Given the description of an element on the screen output the (x, y) to click on. 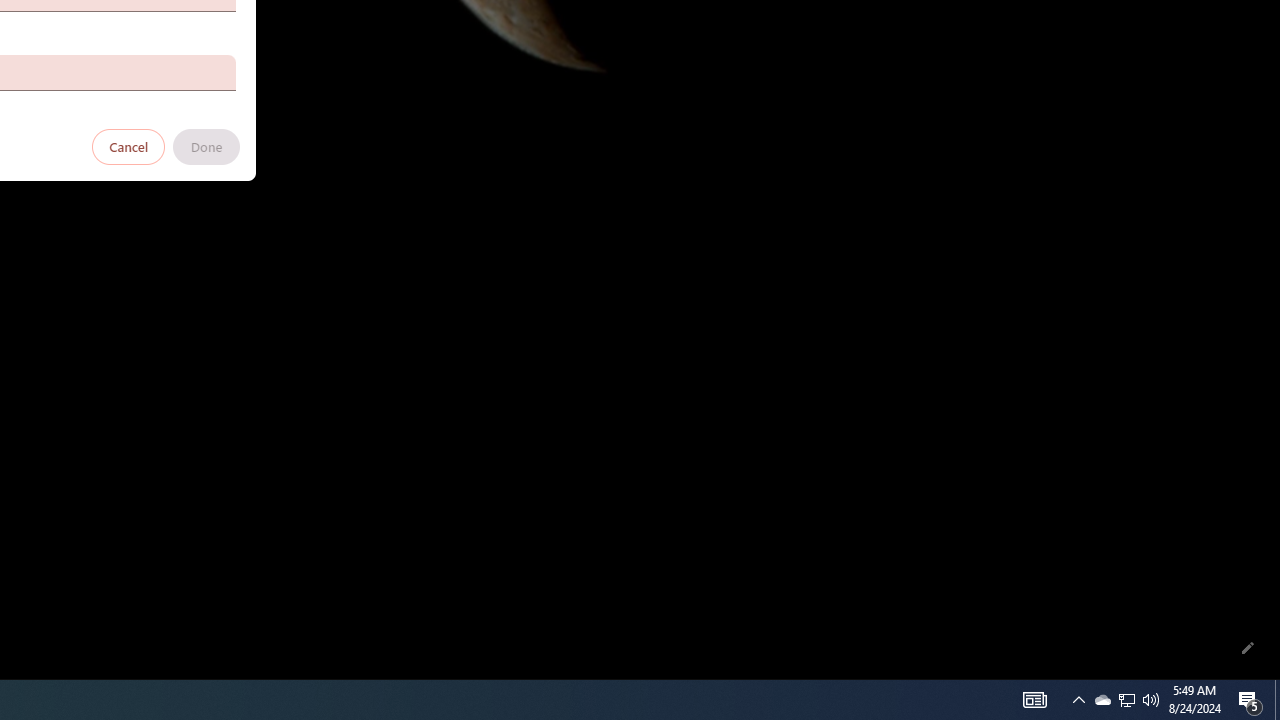
Q2790: 100% (1151, 699)
Done (206, 146)
Cancel (129, 146)
Notification Chevron (1078, 699)
Action Center, 5 new notifications (1126, 699)
AutomationID: 4105 (1250, 699)
User Promoted Notification Area (1102, 699)
Show desktop (1034, 699)
